Given the description of an element on the screen output the (x, y) to click on. 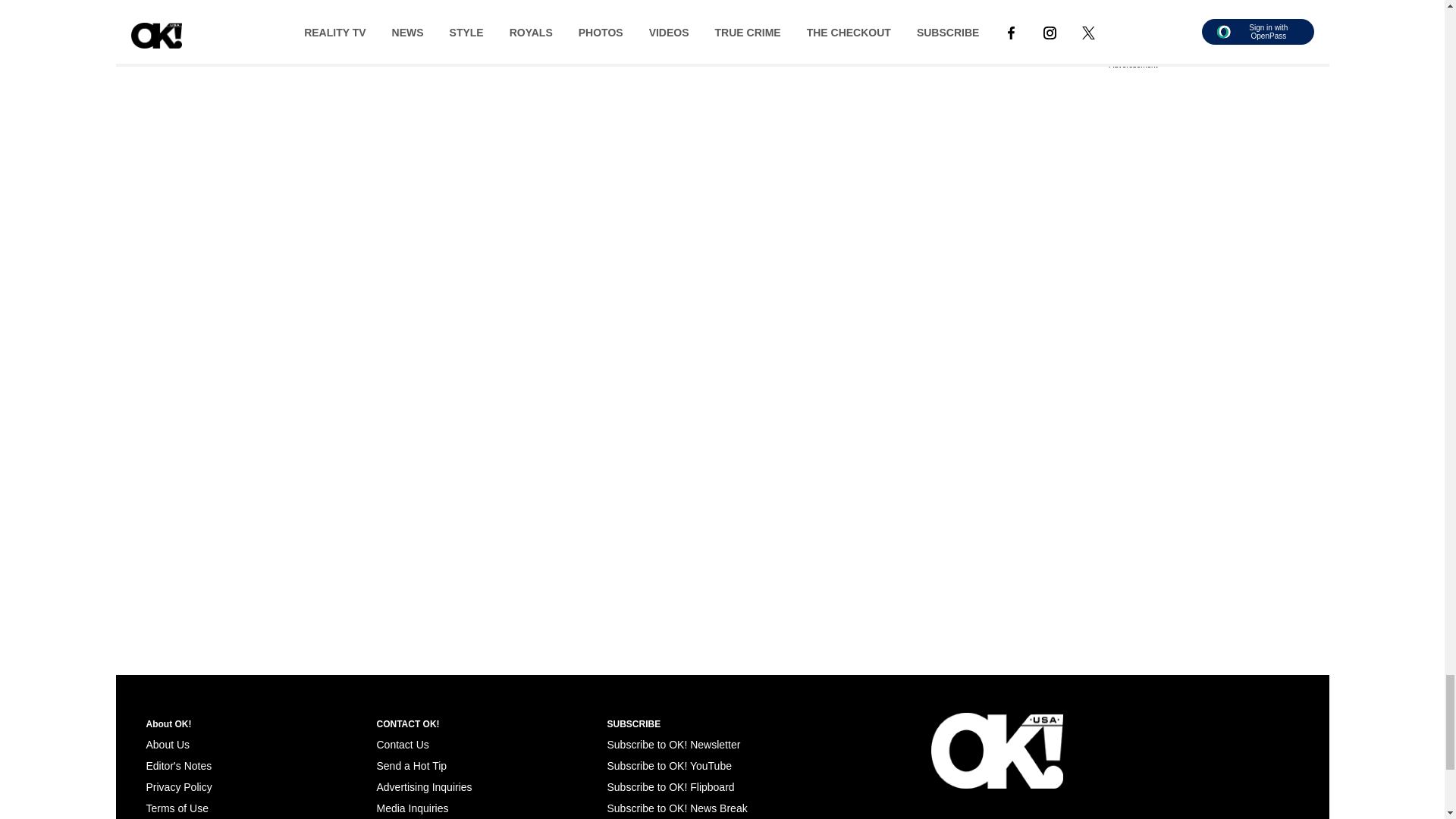
Privacy Policy (178, 787)
Terms of Use (176, 808)
About Us (167, 744)
Editor's Notes (178, 766)
